Given the description of an element on the screen output the (x, y) to click on. 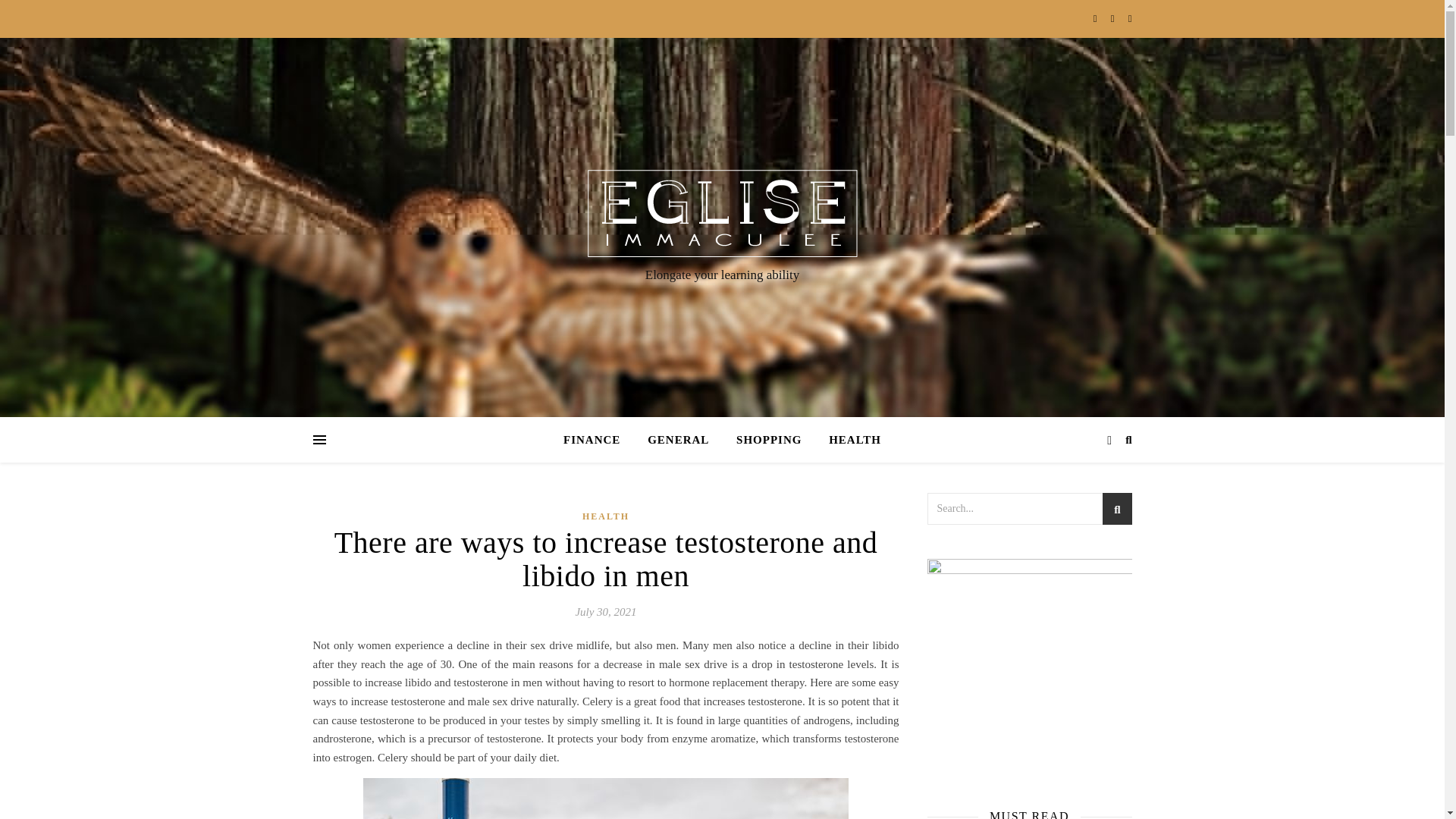
GENERAL (677, 439)
Eglise Immaculee (721, 213)
HEALTH (848, 439)
FINANCE (597, 439)
SHOPPING (768, 439)
